Given the description of an element on the screen output the (x, y) to click on. 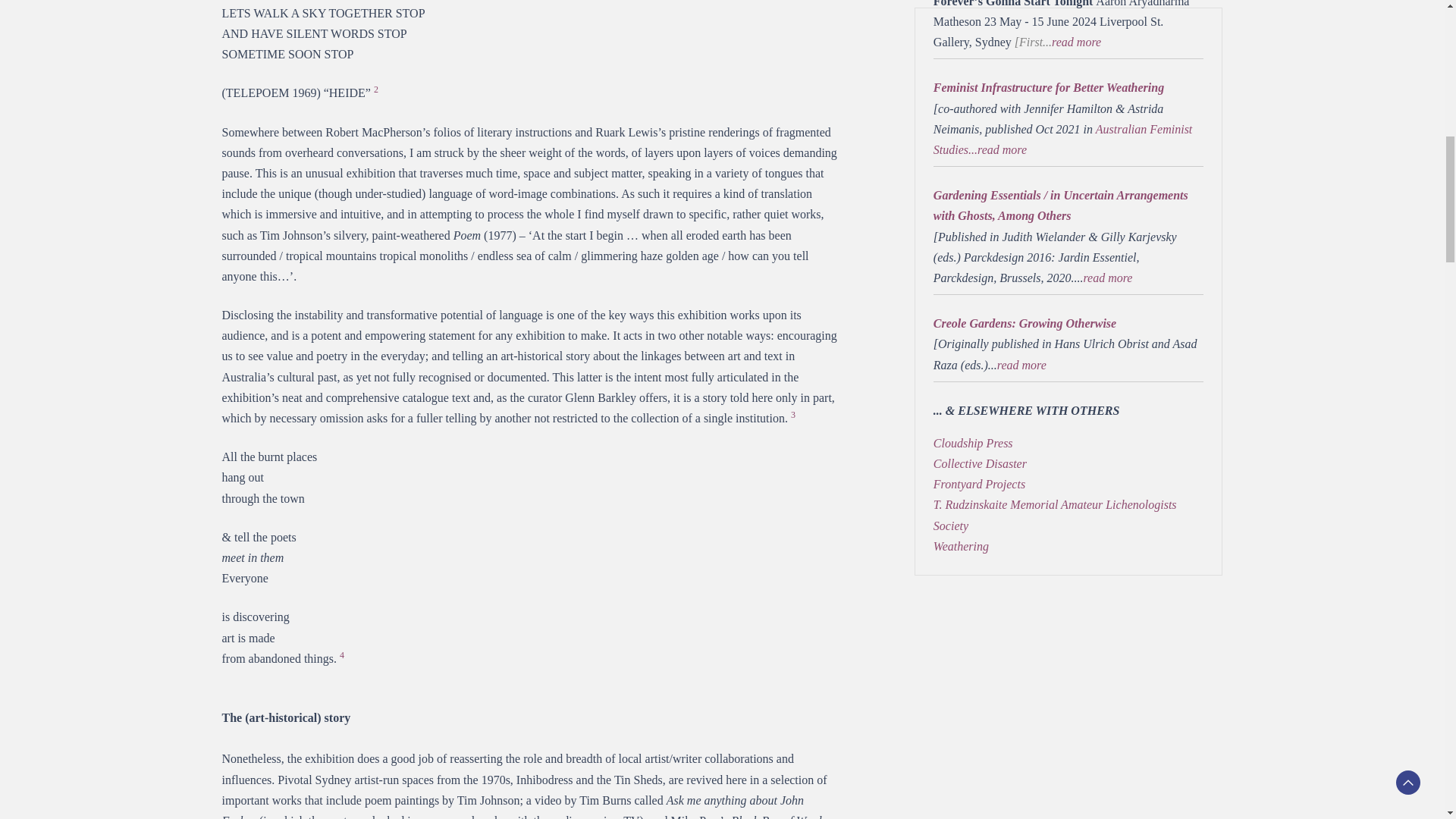
Page 1 (1068, 357)
